Given the description of an element on the screen output the (x, y) to click on. 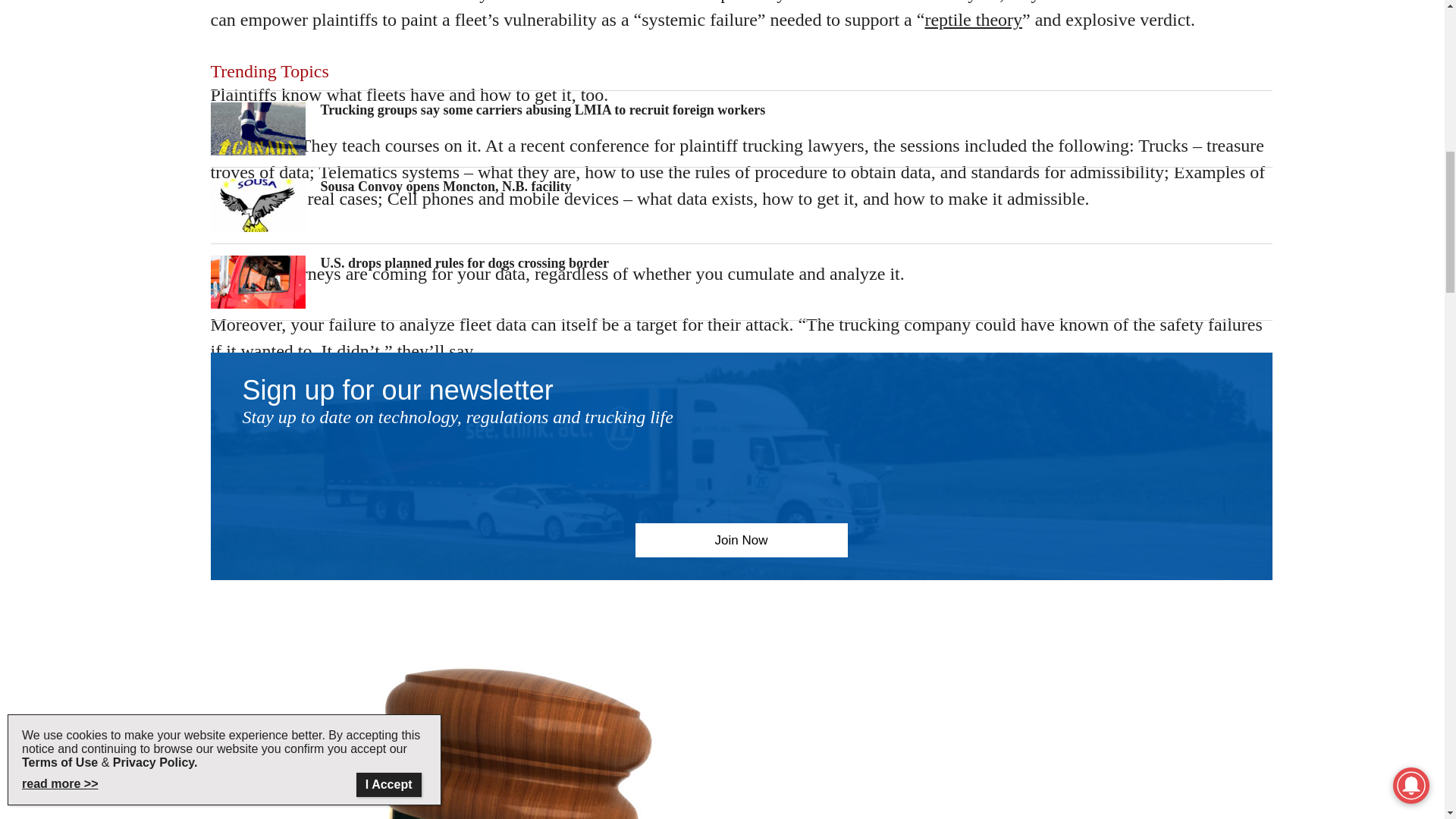
3rd party ad content (741, 13)
